Given the description of an element on the screen output the (x, y) to click on. 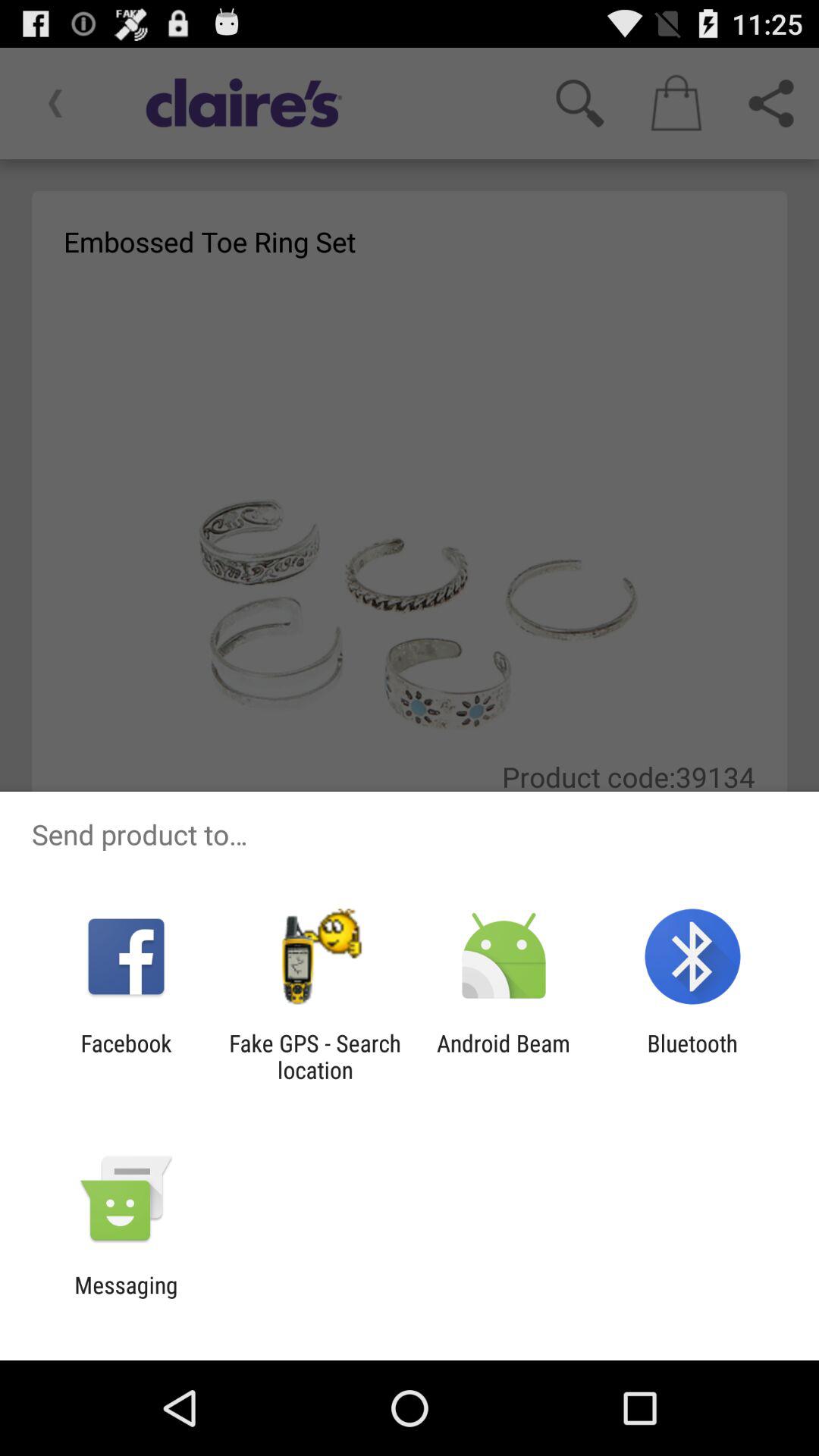
open the android beam app (503, 1056)
